Given the description of an element on the screen output the (x, y) to click on. 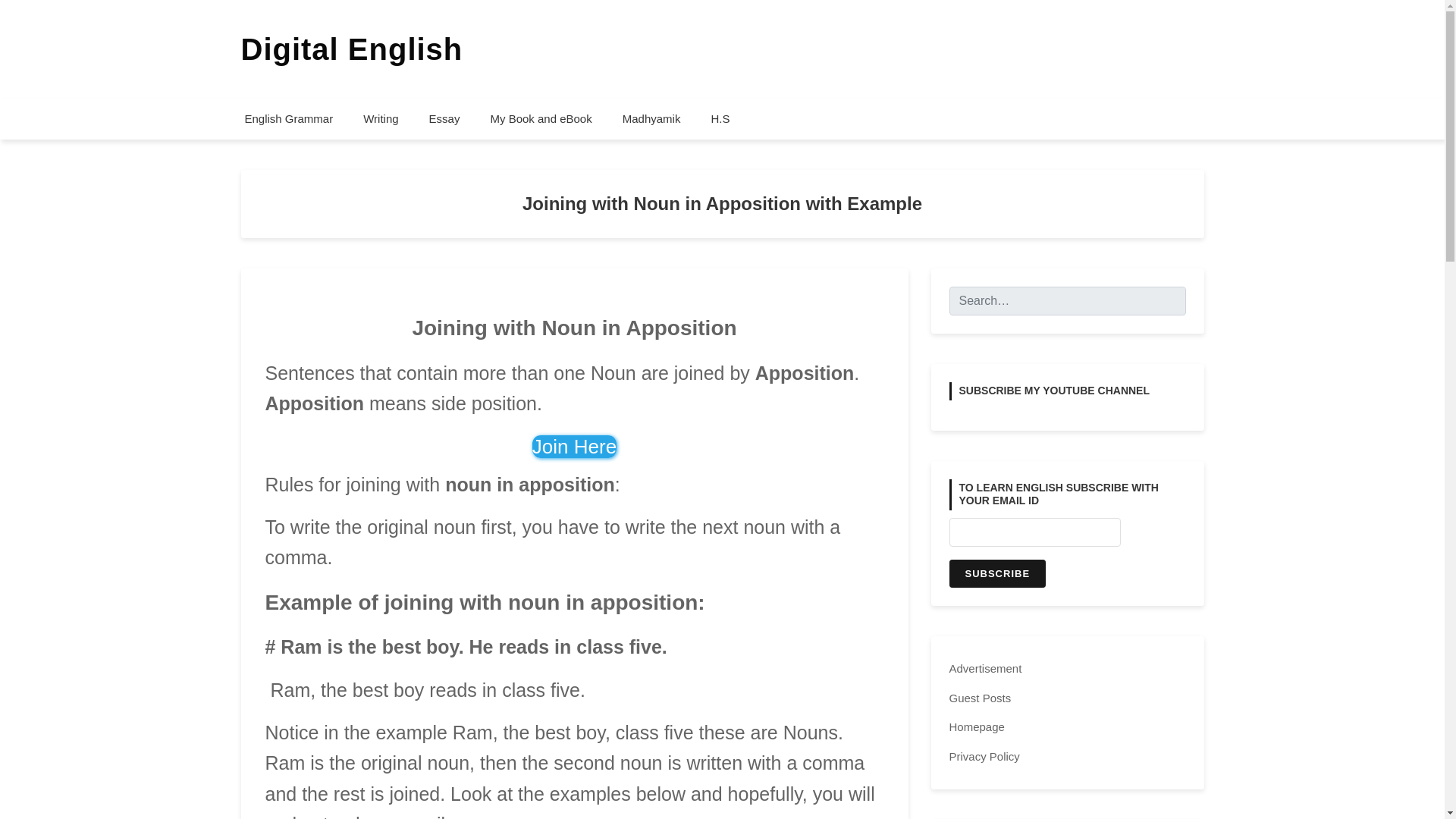
My Book and eBook (540, 118)
Join Here (573, 445)
H.S (719, 118)
Writing (380, 118)
Madhyamik (651, 118)
Digital English (352, 49)
Subscribe (997, 573)
English Grammar (287, 118)
Essay (444, 118)
